Given the description of an element on the screen output the (x, y) to click on. 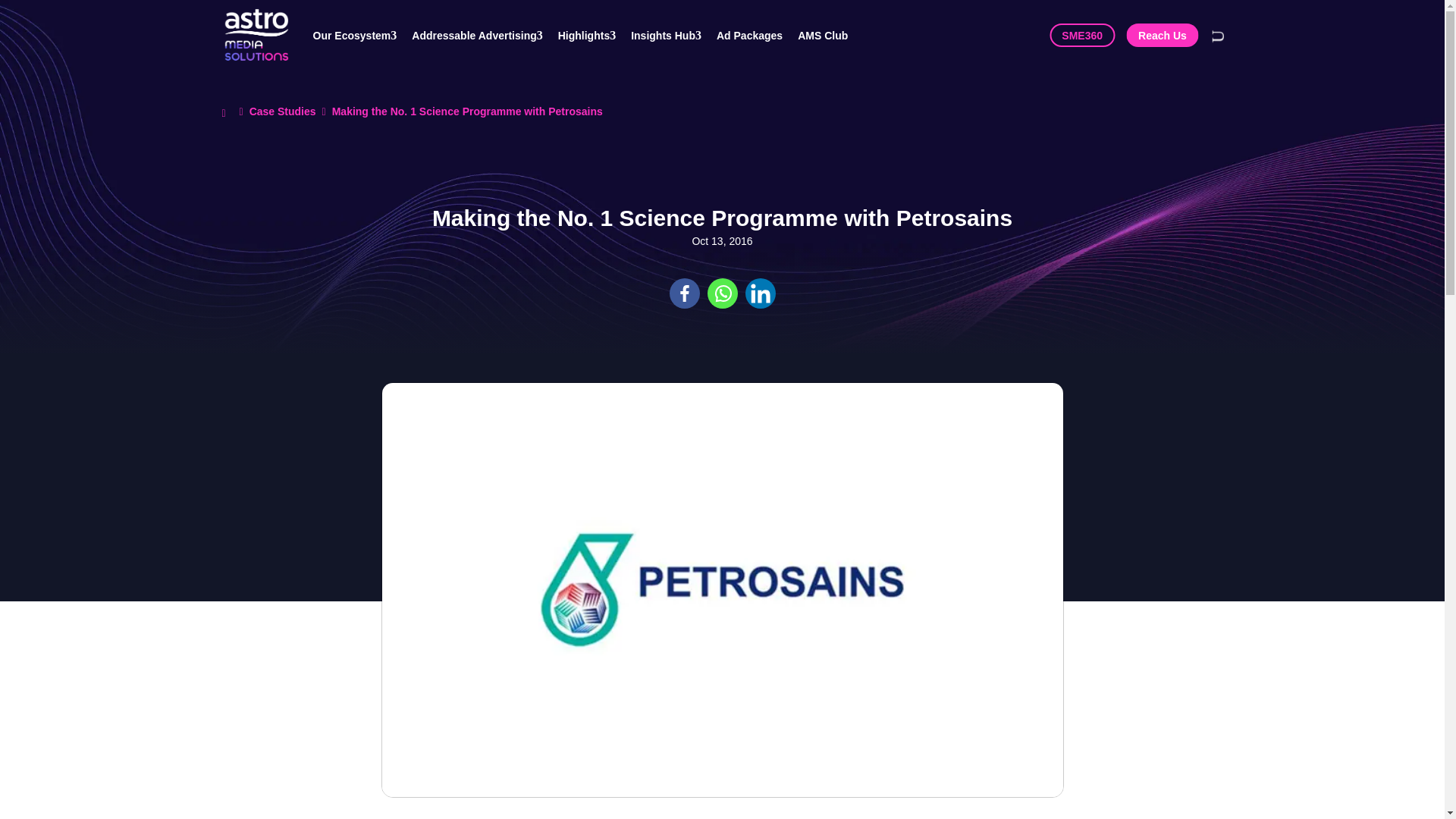
AMS Club (830, 35)
Insights Hub (673, 35)
Facebook (683, 293)
Whatsapp (721, 293)
Linkedin (759, 293)
Astro Media Solutions (255, 34)
Addressable Advertising (484, 35)
Our Ecosystem (362, 35)
Ad Packages (756, 35)
Highlights (593, 35)
